Given the description of an element on the screen output the (x, y) to click on. 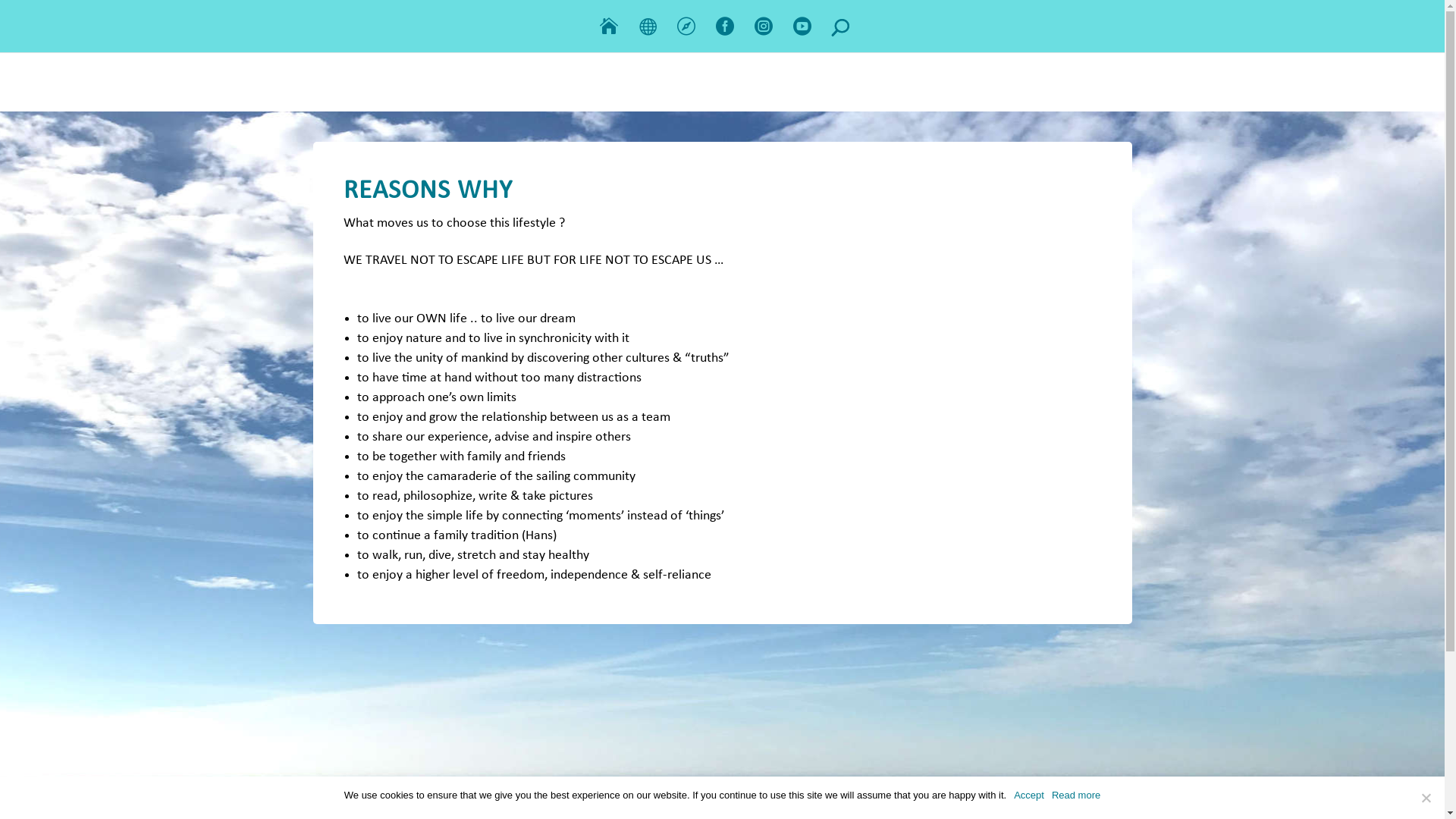
Read more Element type: text (1075, 795)
Accept Element type: text (1028, 795)
No Element type: hover (1425, 797)
